Given the description of an element on the screen output the (x, y) to click on. 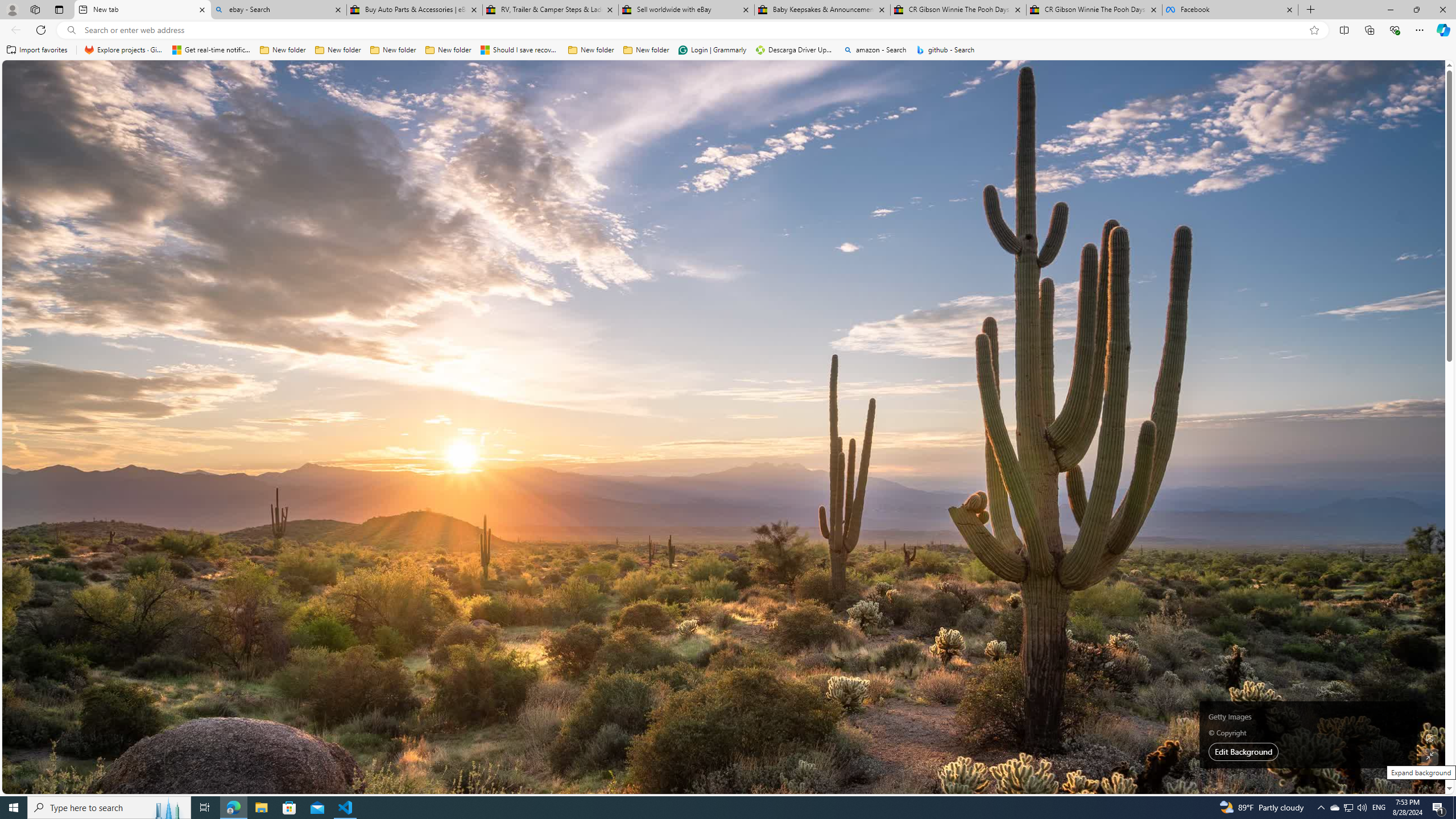
AutomationID: tab-23 (462, 328)
463 Like (658, 685)
Hotels in Bangkok (1048, 359)
Personalize your feed" (1054, 151)
View comments 8 Comment (887, 505)
116 Like (304, 327)
Edit Background (1430, 737)
Partly cloudy (1014, 208)
